Given the description of an element on the screen output the (x, y) to click on. 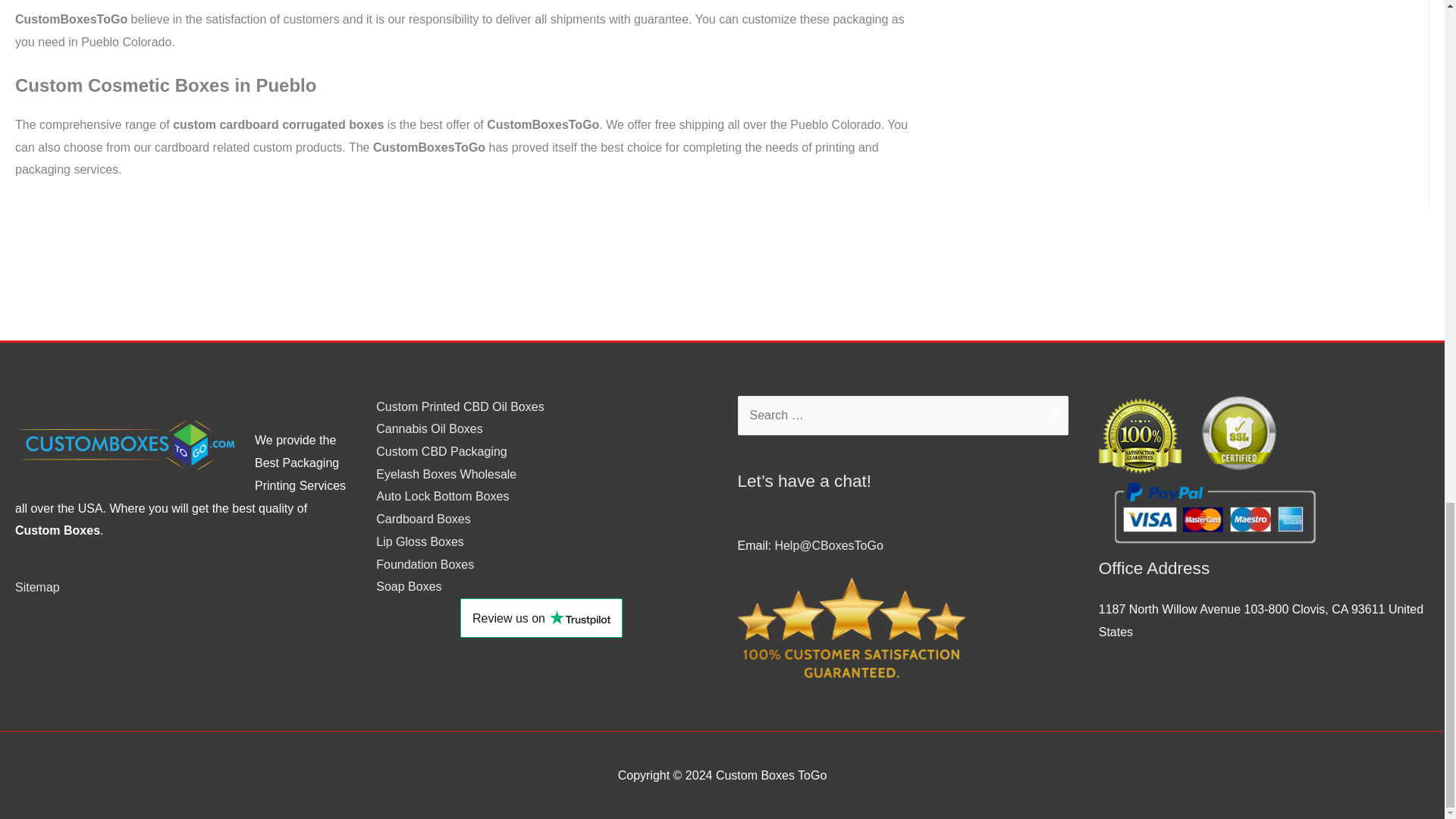
Lip Gloss Boxes (419, 541)
Eyelash Boxes Wholesale (445, 473)
Custom CBD Packaging (440, 451)
Custom Printed CBD Oil Boxes (459, 406)
Cardboard Boxes (422, 518)
Customer reviews powered by Trustpilot (540, 618)
Auto Lock Bottom Boxes (441, 495)
Foundation Boxes (424, 563)
Sitemap (36, 586)
Soap Boxes (408, 585)
